Given the description of an element on the screen output the (x, y) to click on. 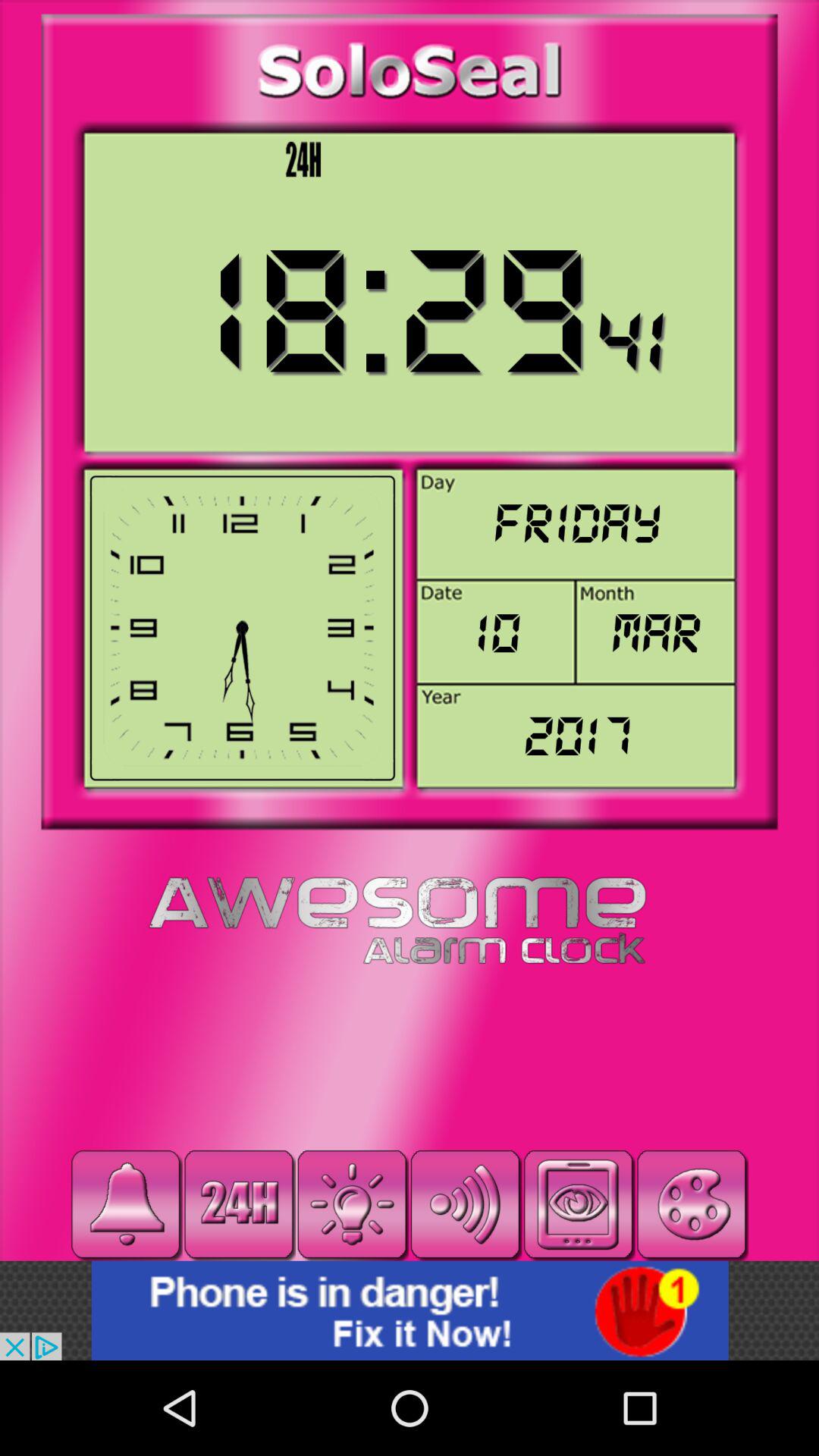
volume (465, 1203)
